Given the description of an element on the screen output the (x, y) to click on. 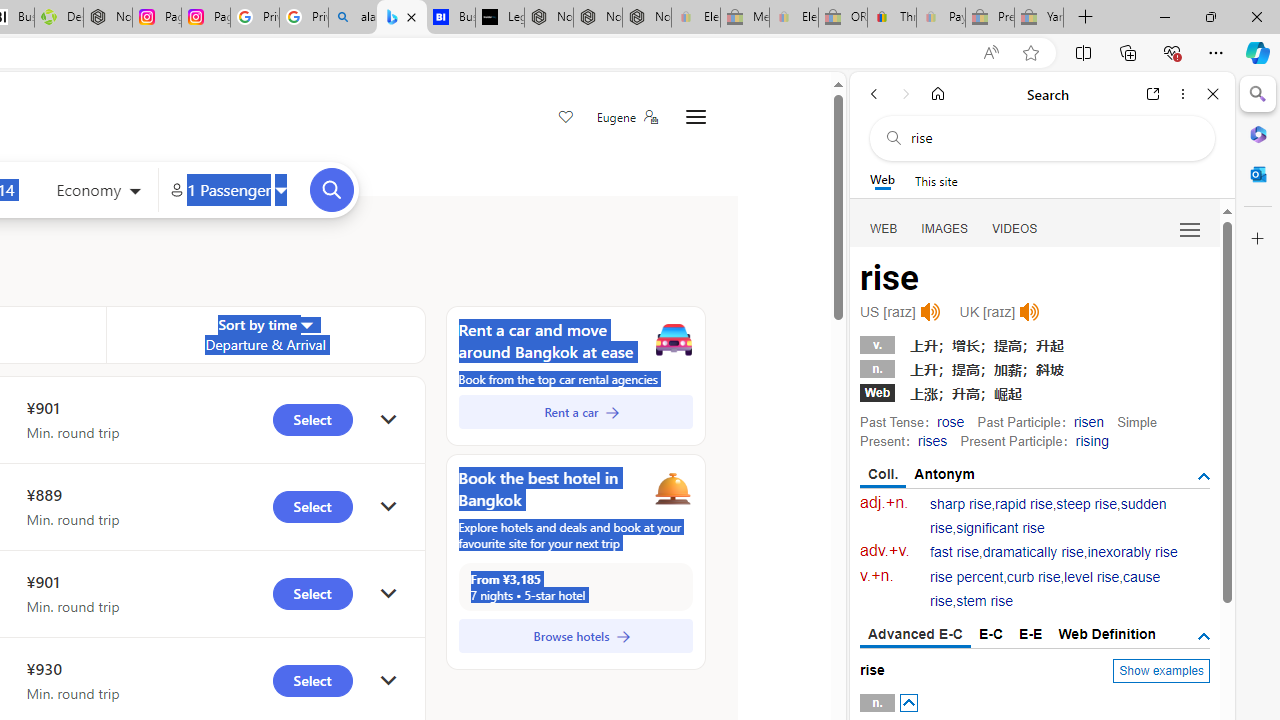
Select class of service (98, 192)
Threats and offensive language policy | eBay (891, 17)
AutomationID: posbtn_0 (908, 703)
Save (565, 118)
IMAGES (944, 228)
alabama high school quarterback dies - Search (353, 17)
significant rise (1000, 528)
rapid rise (1023, 503)
sudden rise (1048, 515)
